Given the description of an element on the screen output the (x, y) to click on. 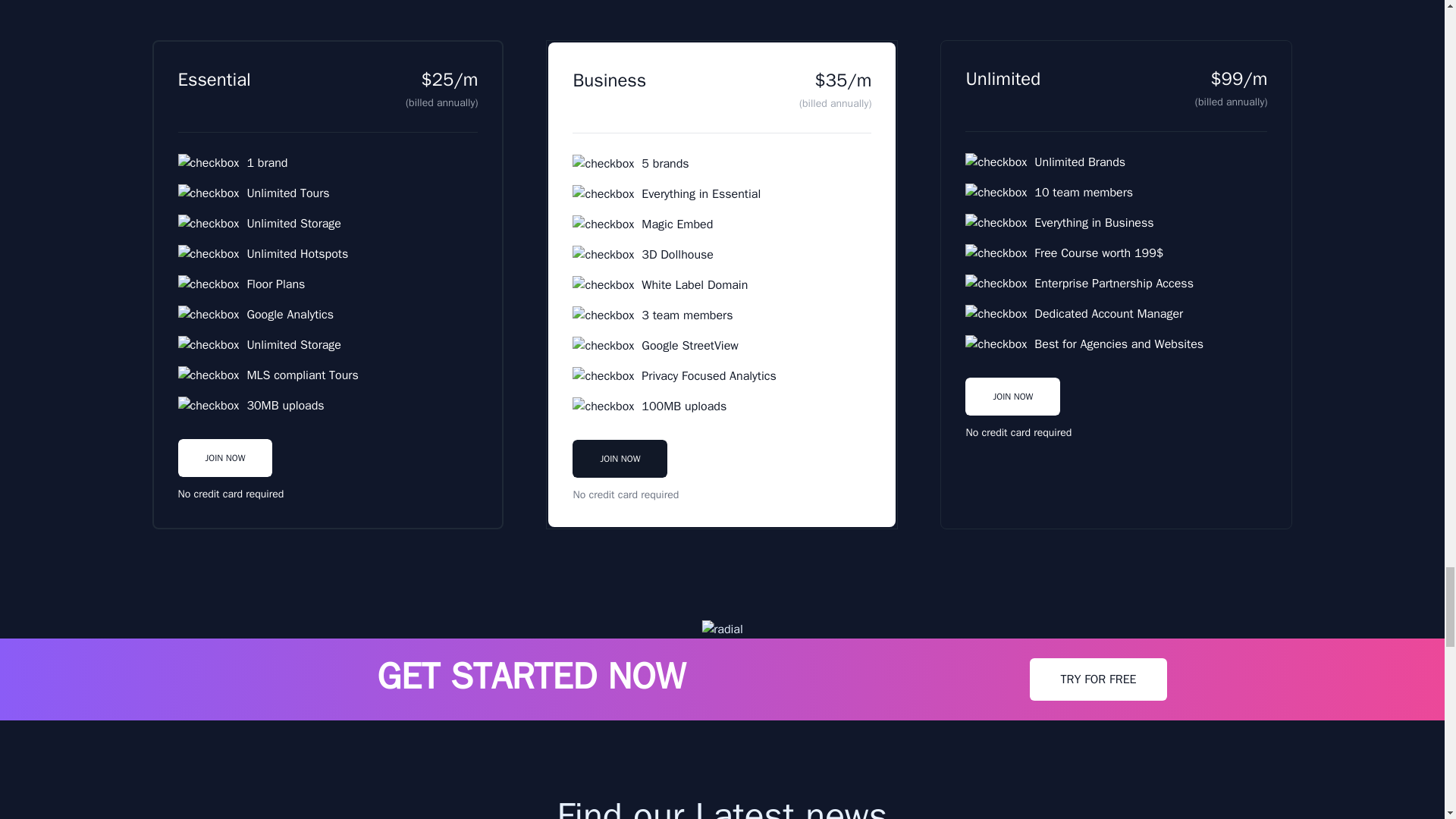
JOIN NOW (224, 473)
JOIN NOW (1012, 410)
JOIN NOW (1012, 396)
JOIN NOW (619, 458)
JOIN NOW (224, 456)
JOIN NOW (619, 473)
TRY FOR FREE (1097, 679)
